Given the description of an element on the screen output the (x, y) to click on. 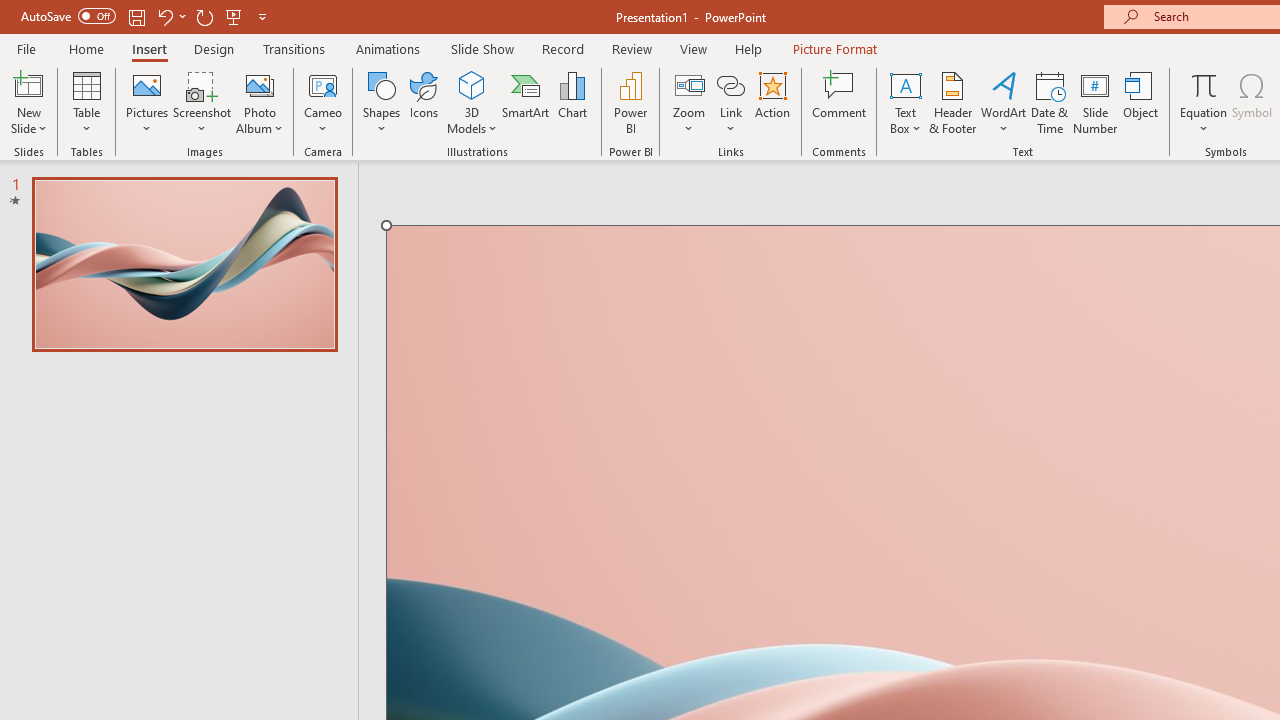
Symbol... (1252, 102)
Power BI (630, 102)
Screenshot (202, 102)
Action (772, 102)
SmartArt... (525, 102)
Chart... (572, 102)
Picture Format (834, 48)
